Given the description of an element on the screen output the (x, y) to click on. 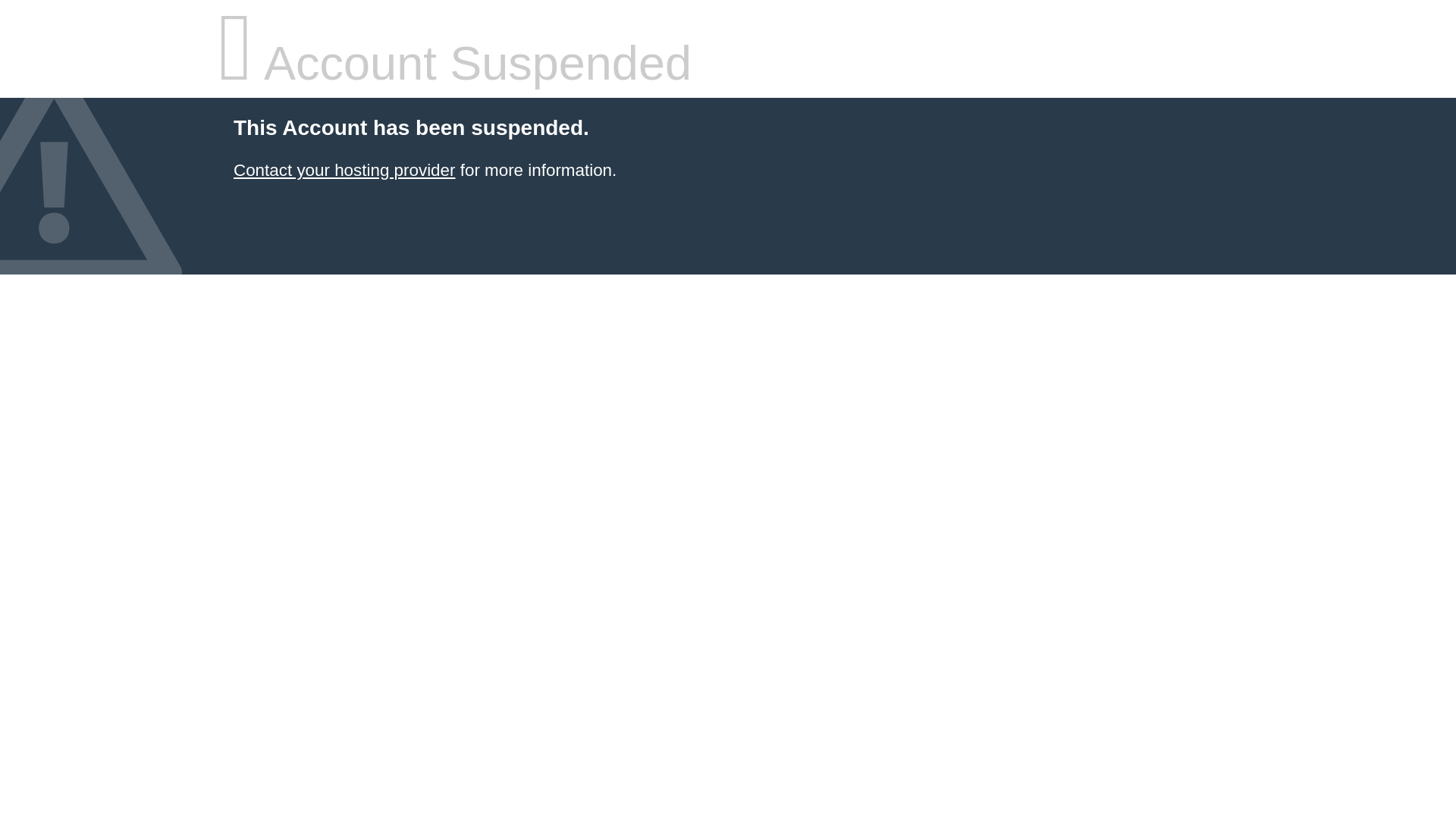
Contact your hosting provider (343, 169)
